Given the description of an element on the screen output the (x, y) to click on. 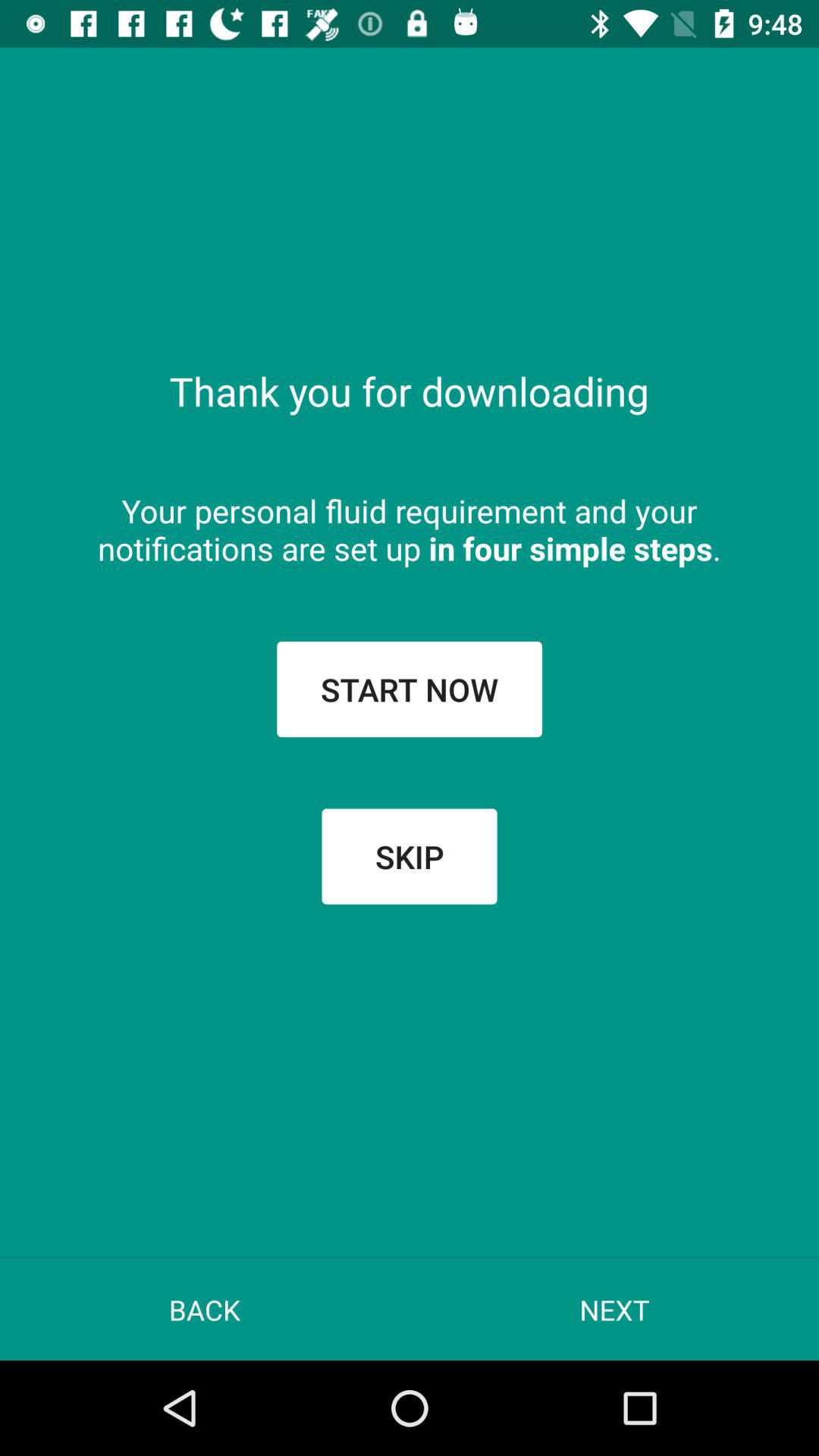
turn off the app below the your personal fluid item (409, 689)
